Given the description of an element on the screen output the (x, y) to click on. 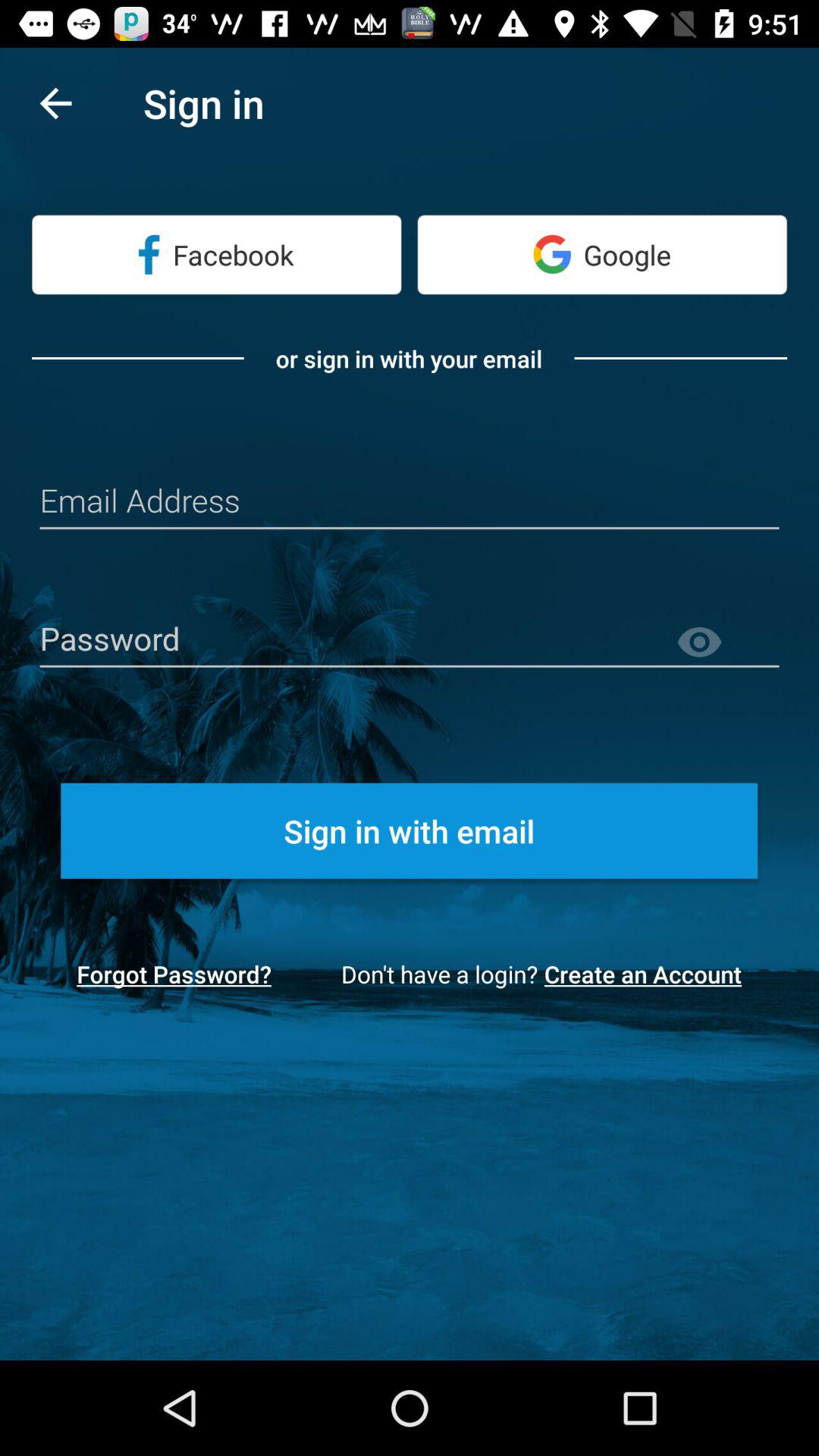
choose the item next to sign in item (55, 103)
